Given the description of an element on the screen output the (x, y) to click on. 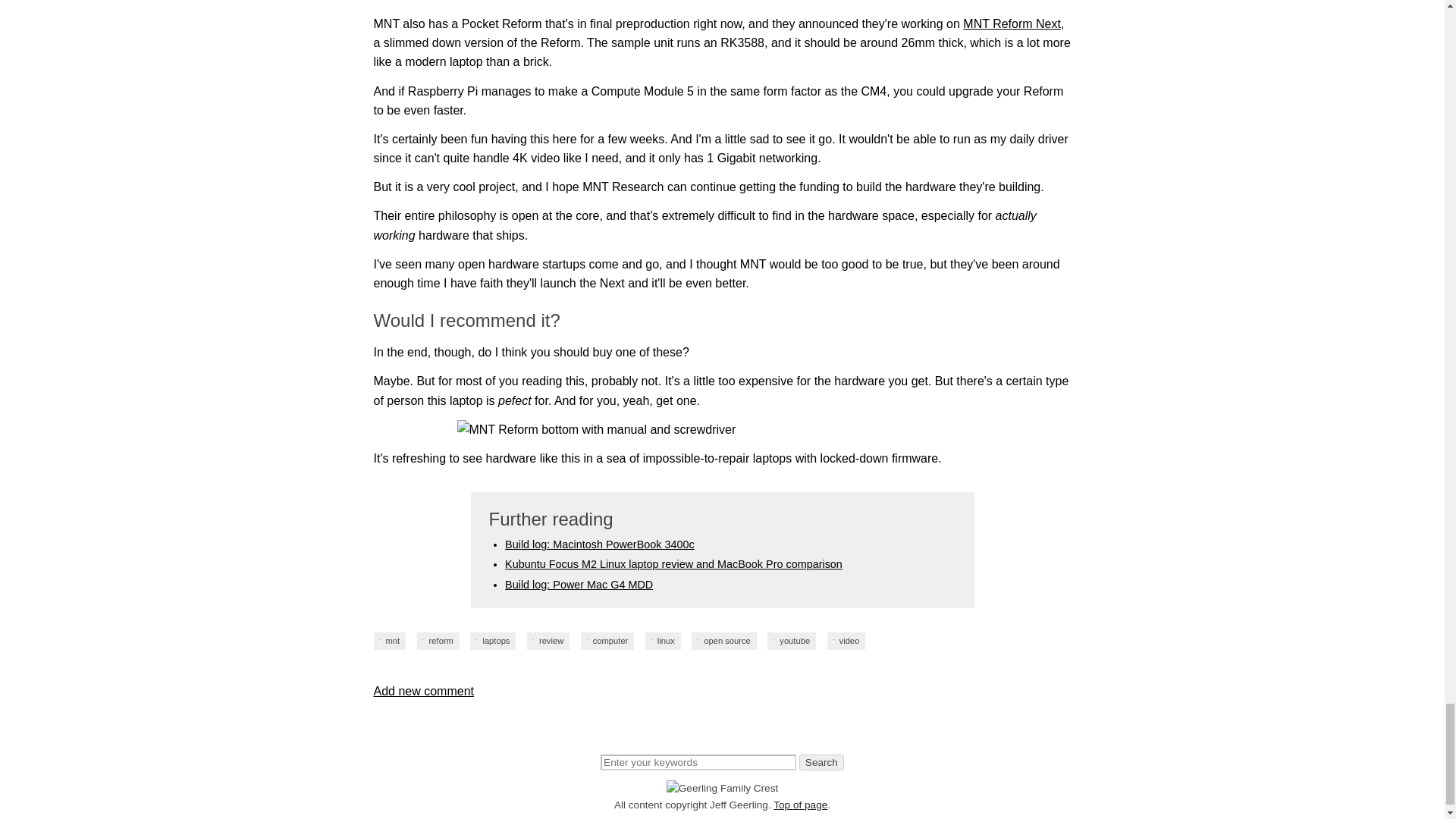
mnt (389, 641)
MNT Reform Next (1011, 23)
linux (663, 641)
open source (724, 641)
review (548, 641)
Build log: Macintosh PowerBook 3400c (599, 544)
youtube (791, 641)
Top of page (800, 804)
computer (607, 641)
Search (821, 762)
